Given the description of an element on the screen output the (x, y) to click on. 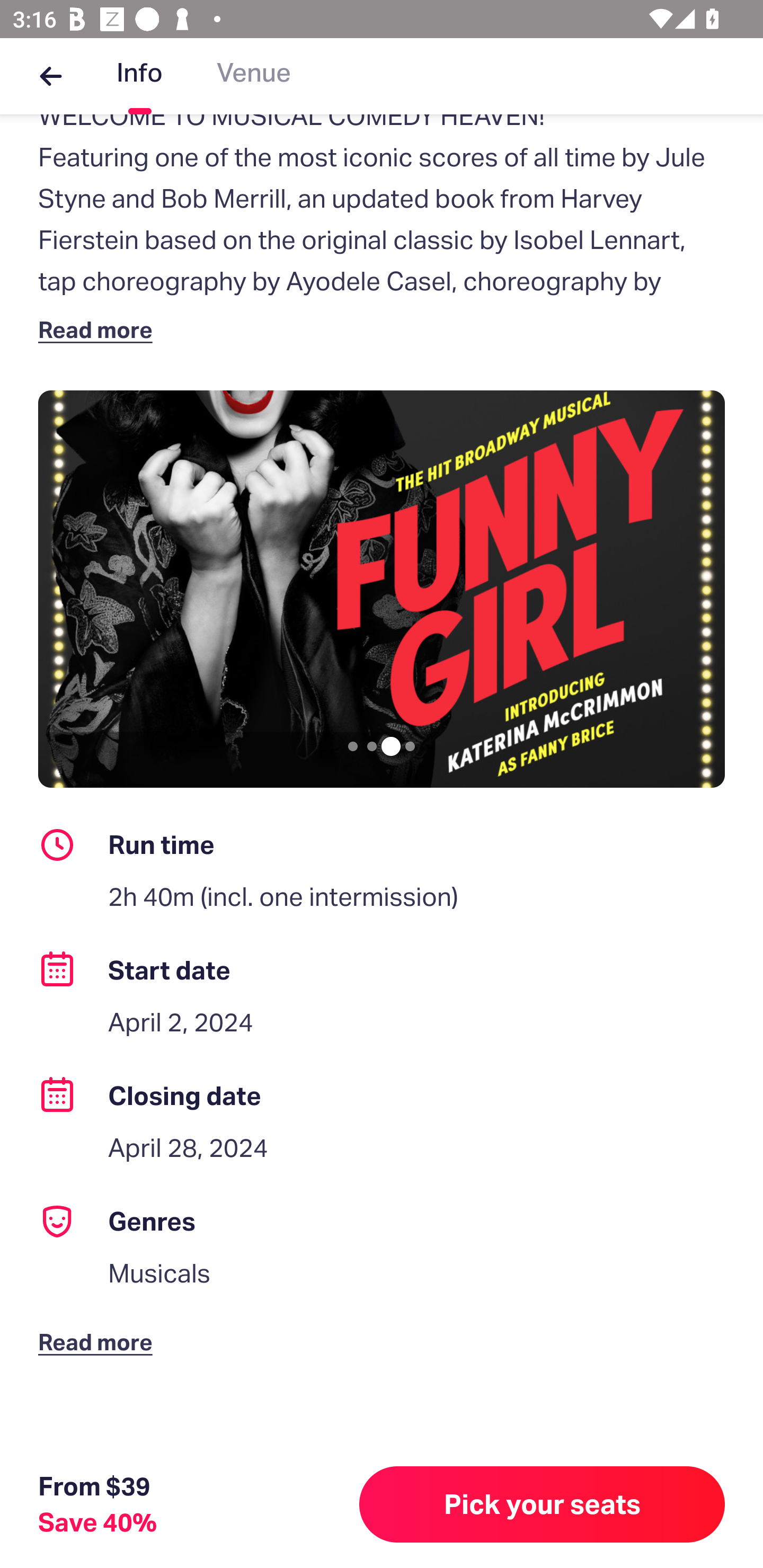
Venue (253, 75)
Read more (99, 328)
Read more (99, 1327)
Pick your seats (541, 1504)
